Given the description of an element on the screen output the (x, y) to click on. 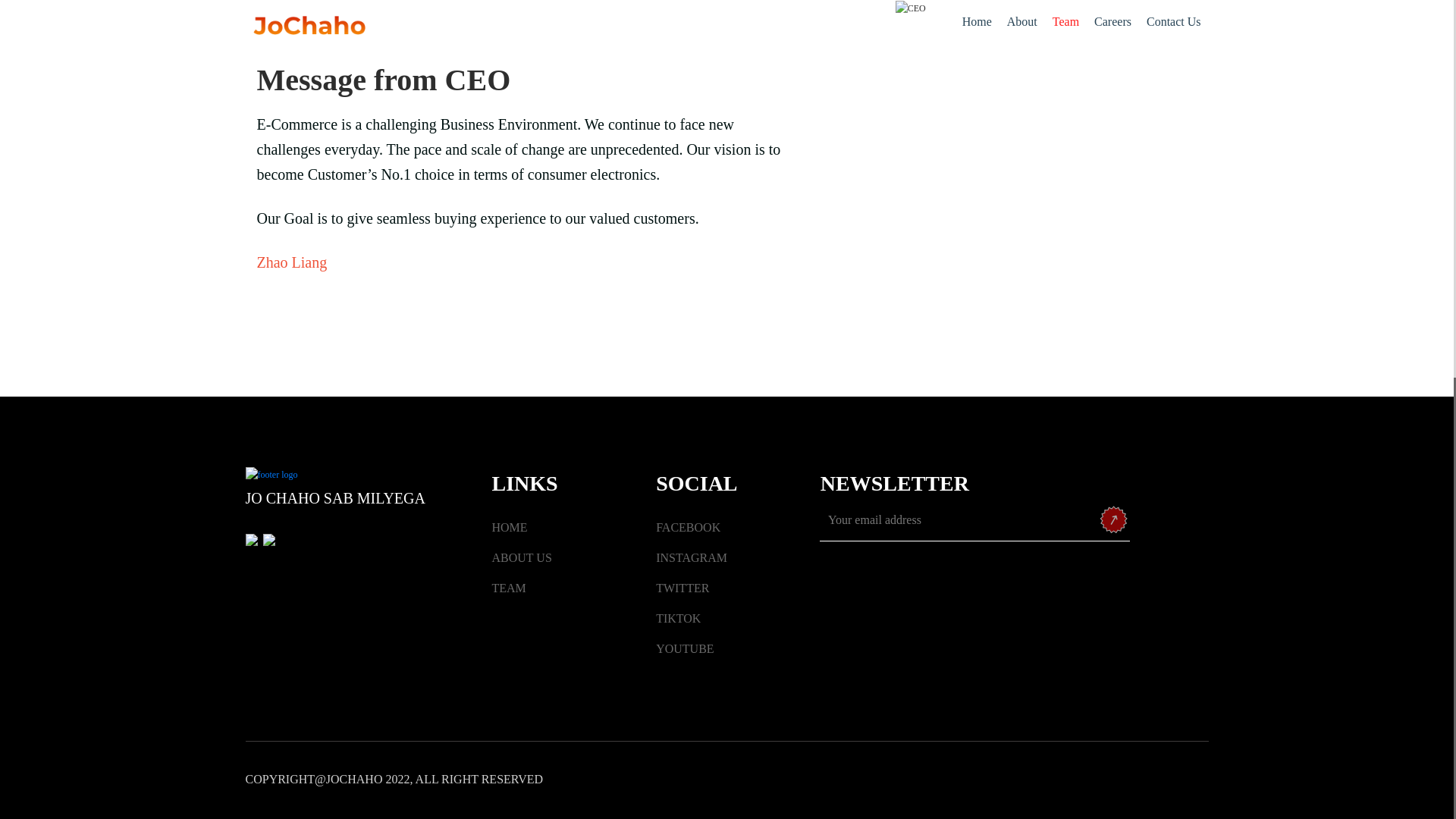
ABOUT US (521, 557)
TIKTOK (678, 617)
HOME (509, 526)
YOUTUBE (684, 648)
FACEBOOK (688, 526)
TWITTER (682, 587)
INSTAGRAM (691, 557)
TEAM (508, 587)
